Given the description of an element on the screen output the (x, y) to click on. 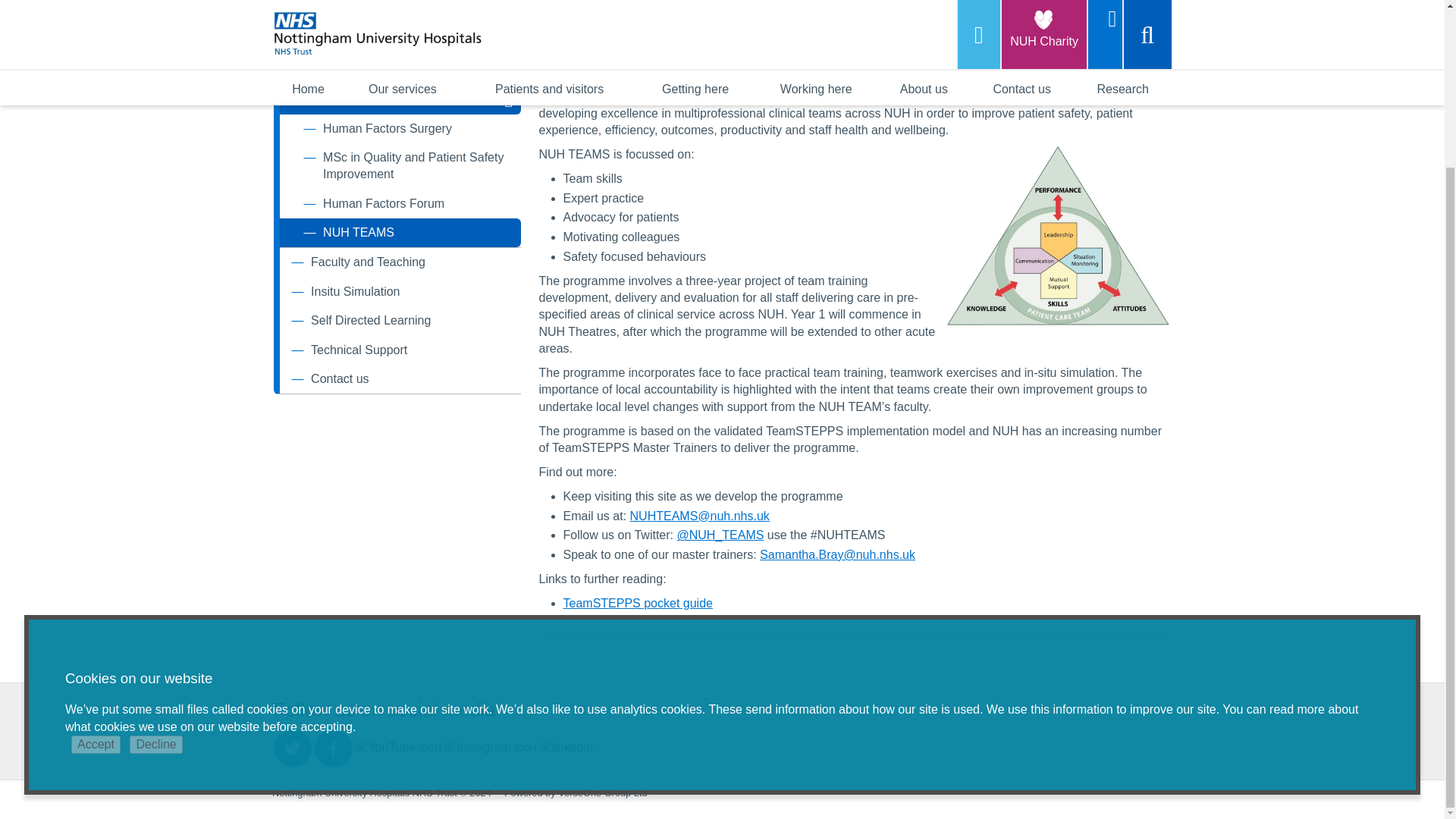
Link to NUH Twitter account (292, 748)
Accept (95, 544)
Decline (155, 544)
